Given the description of an element on the screen output the (x, y) to click on. 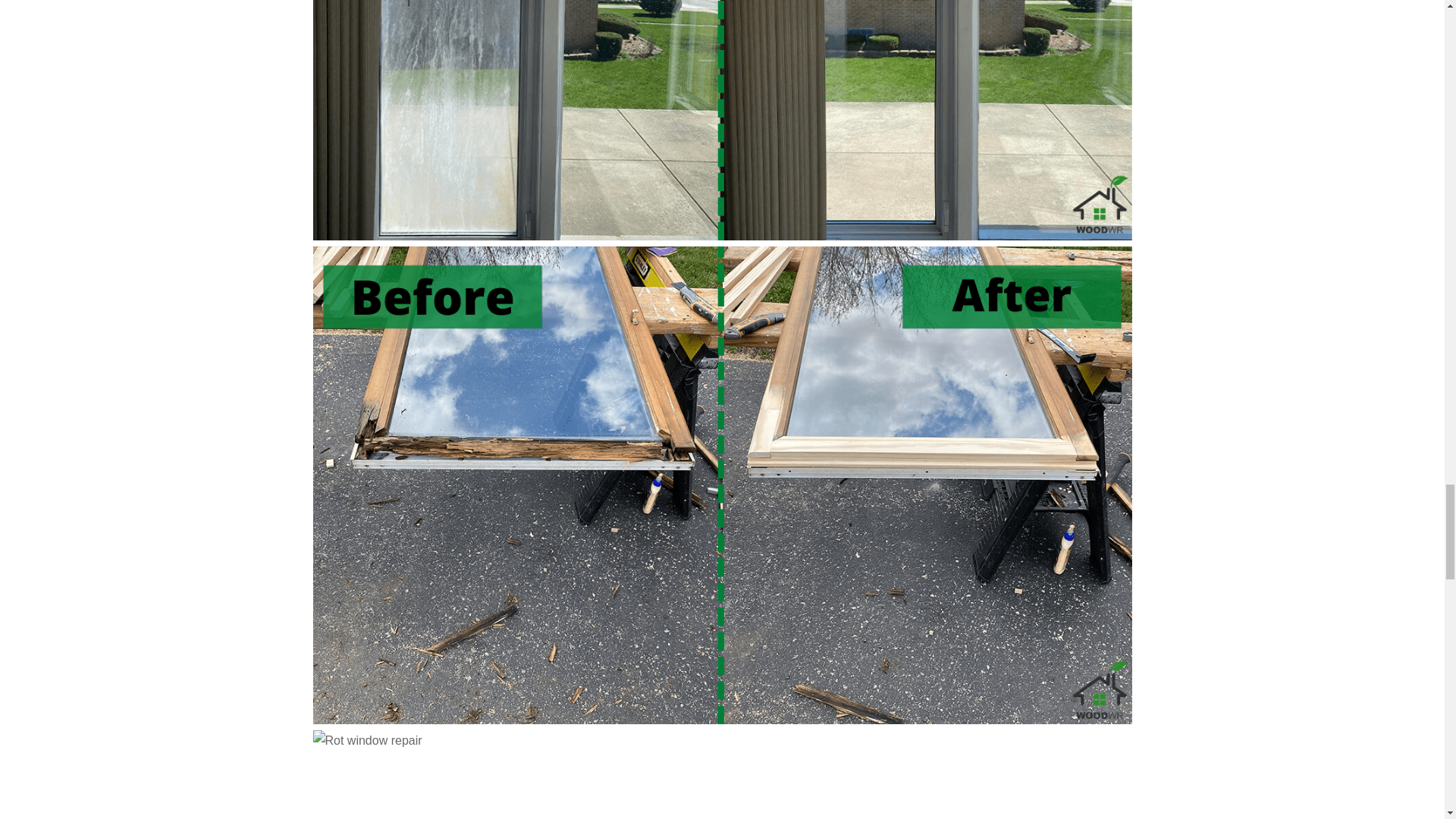
Rot window repair (367, 740)
